Given the description of an element on the screen output the (x, y) to click on. 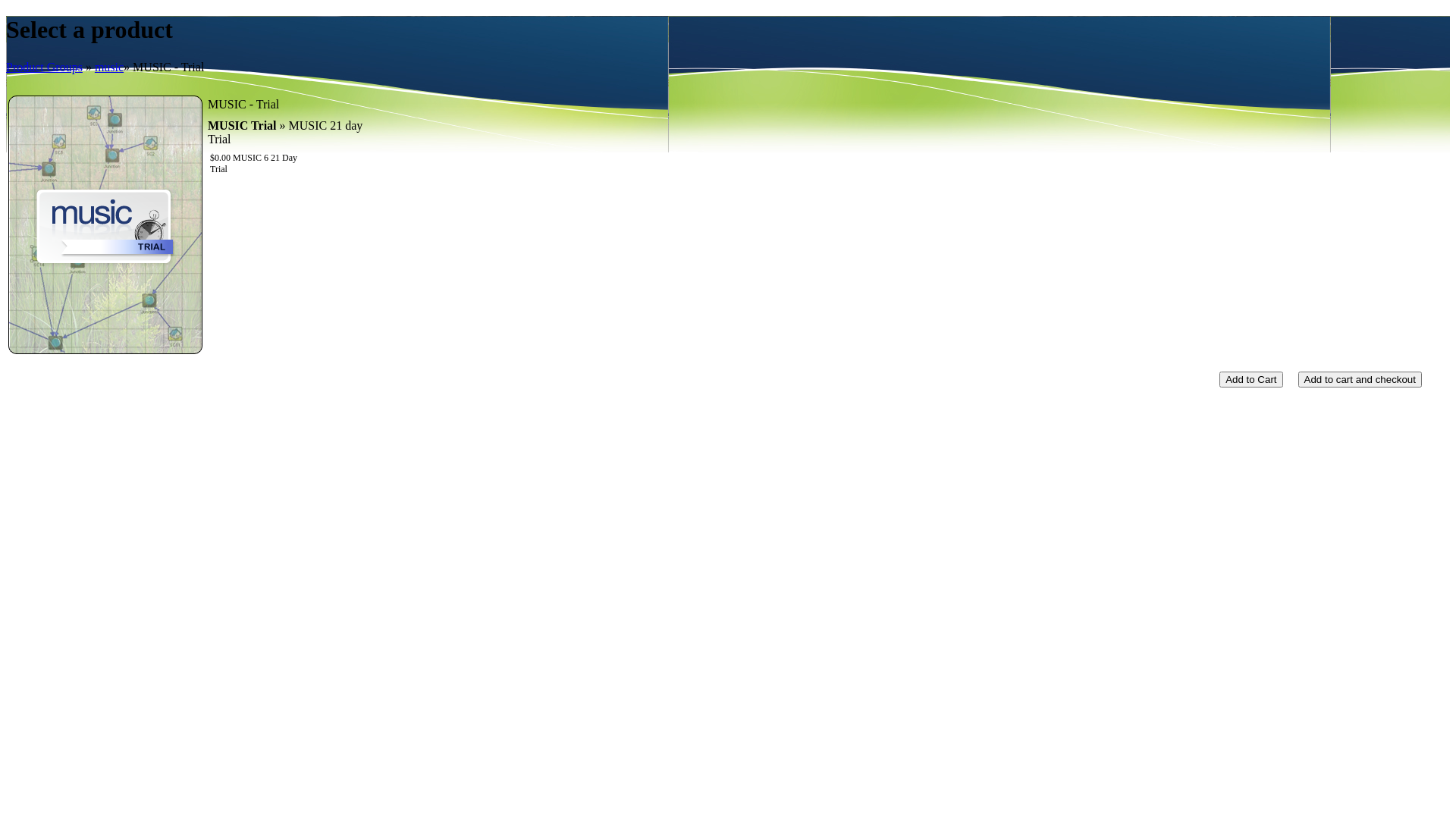
Add to cart and checkout Element type: text (1359, 379)
Product Groups Element type: text (44, 66)
music Element type: text (108, 66)
Add to Cart Element type: text (1250, 379)
